Given the description of an element on the screen output the (x, y) to click on. 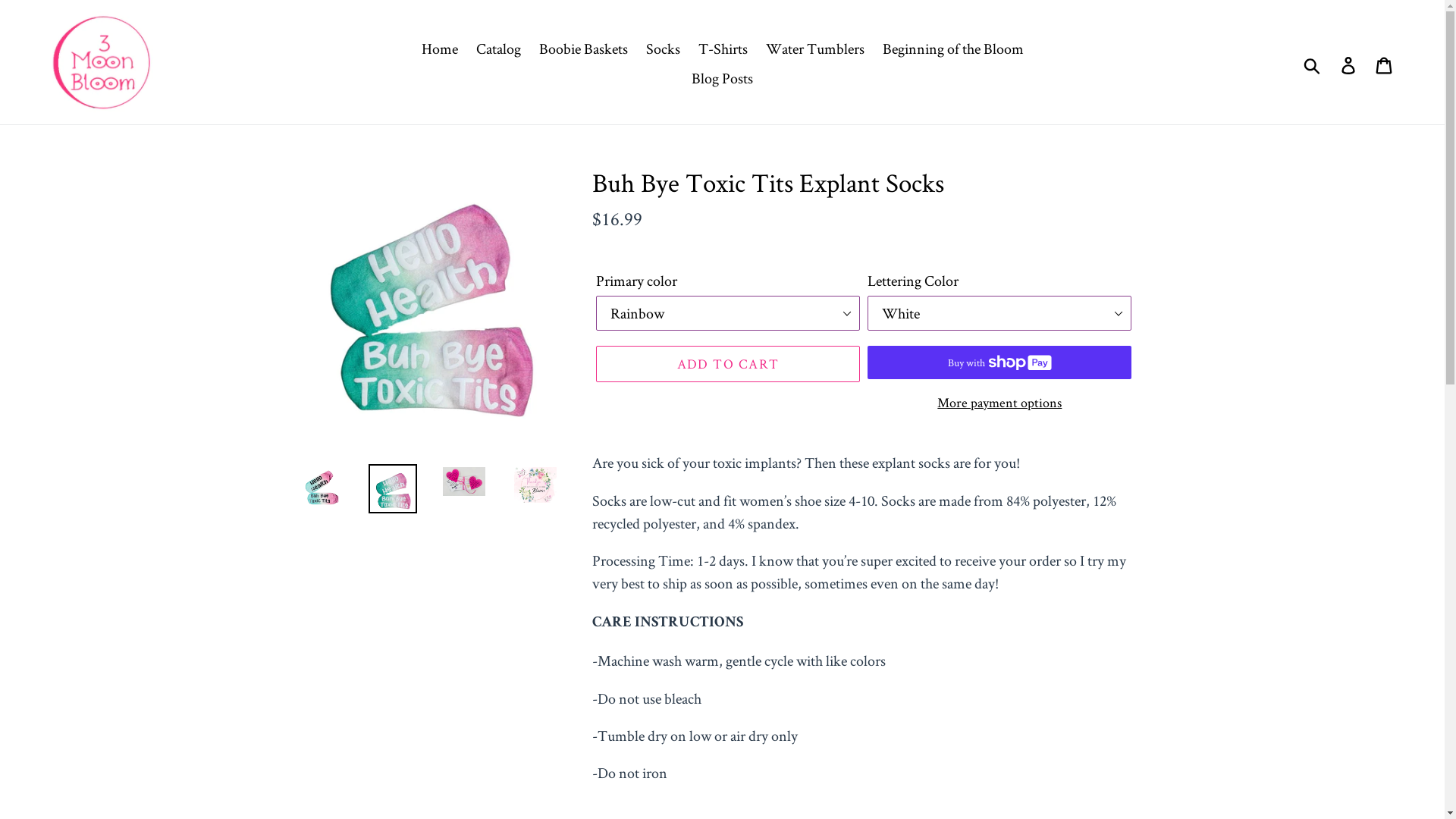
Catalog Element type: text (498, 48)
Home Element type: text (439, 48)
Beginning of the Bloom Element type: text (953, 48)
T-Shirts Element type: text (722, 48)
Blog Posts Element type: text (722, 77)
Cart Element type: text (1384, 61)
Water Tumblers Element type: text (815, 48)
More payment options Element type: text (999, 402)
Log in Element type: text (1349, 61)
ADD TO CART Element type: text (727, 363)
Submit Element type: text (1312, 61)
Boobie Baskets Element type: text (582, 48)
Socks Element type: text (662, 48)
